Given the description of an element on the screen output the (x, y) to click on. 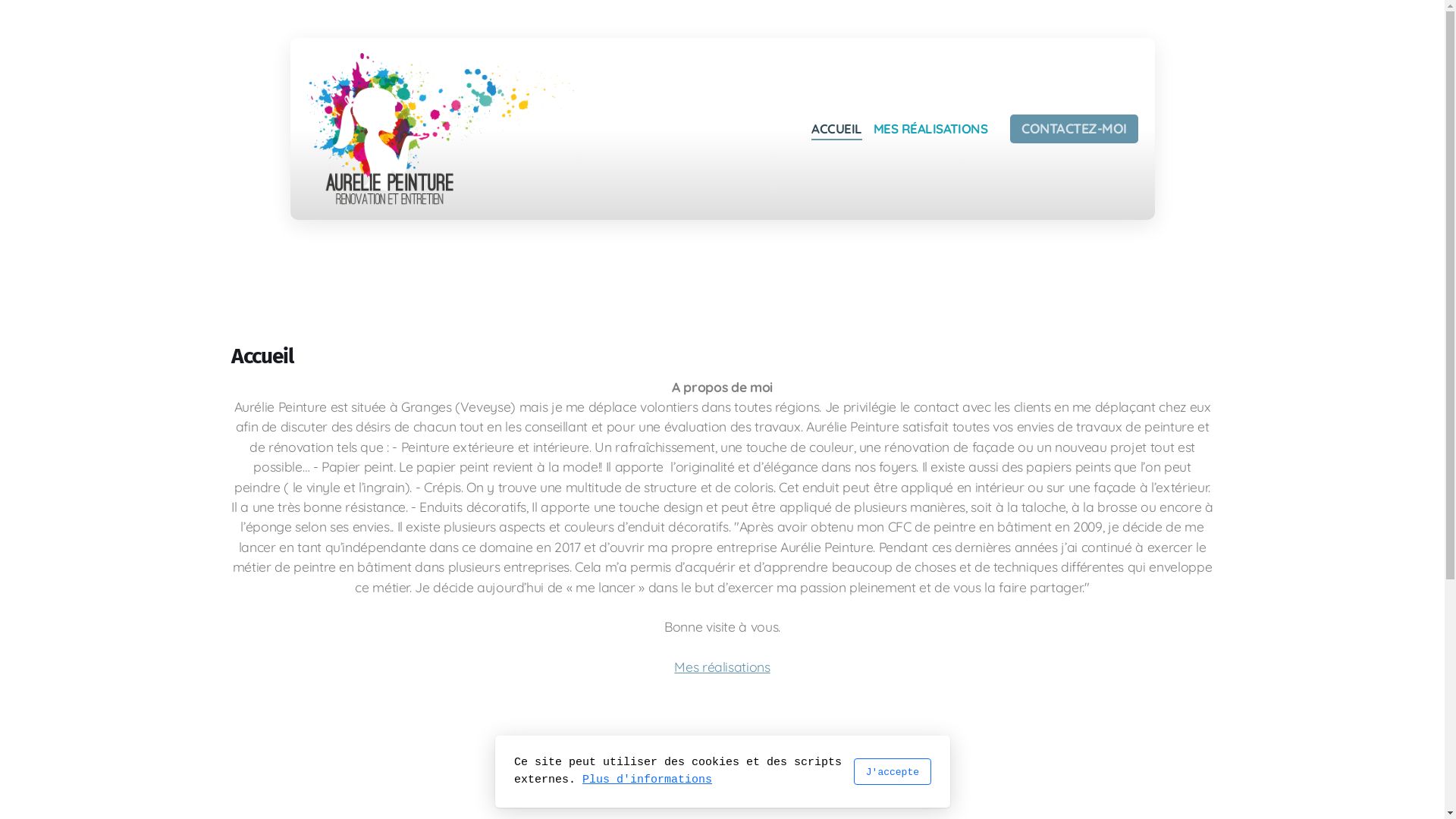
Plus d'informations Element type: text (647, 779)
CONTACTEZ-MOI Element type: text (1073, 128)
J'accepte Element type: text (891, 771)
ACCUEIL Element type: text (836, 129)
